Given the description of an element on the screen output the (x, y) to click on. 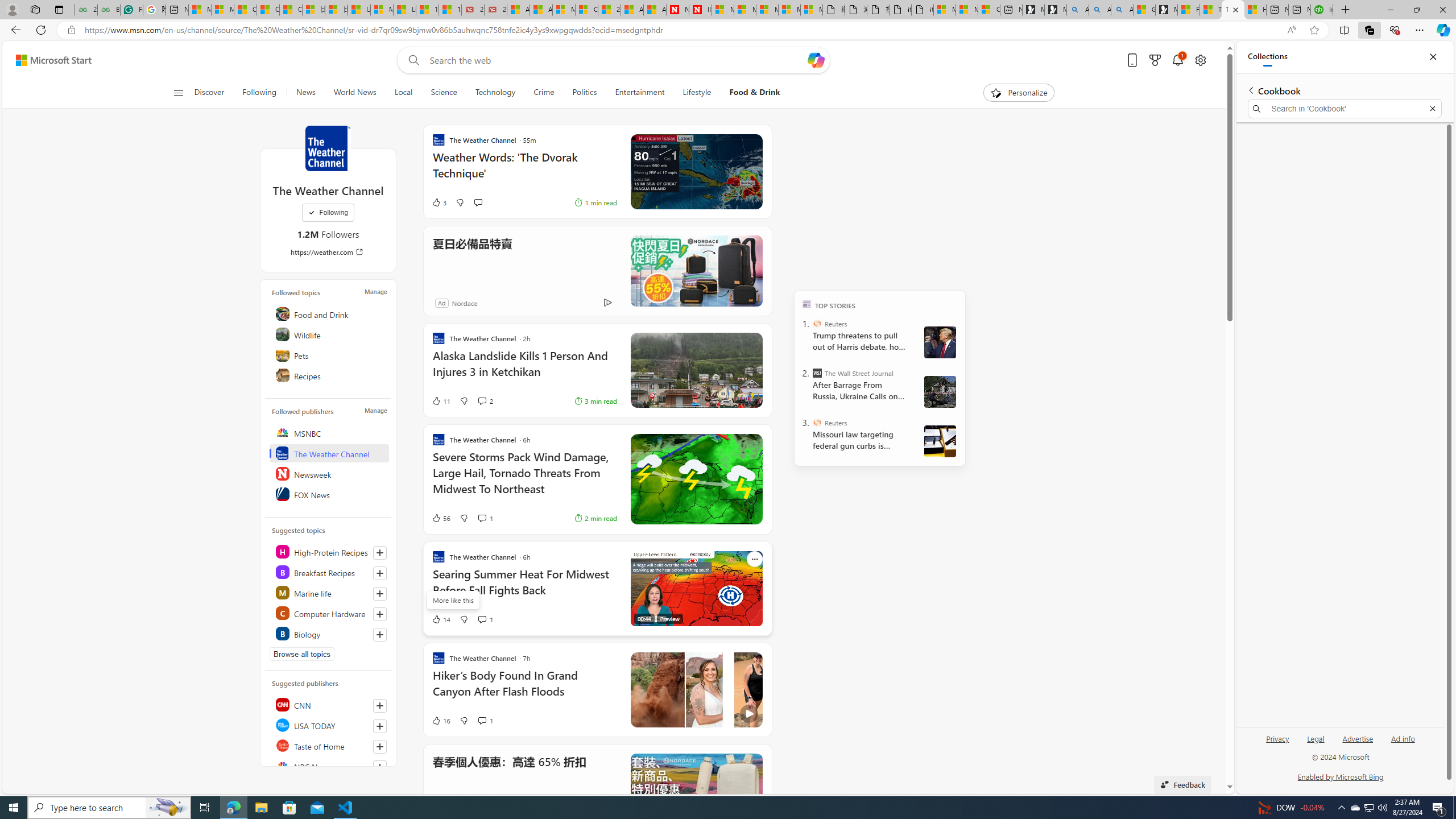
itconcepthk.com/projector_solutions.mp4 (923, 9)
Intuit QuickBooks Online - Quickbooks (1322, 9)
Searing Summer Heat For Midwest Before Fall Fights Back (524, 587)
Wildlife (328, 334)
